Given the description of an element on the screen output the (x, y) to click on. 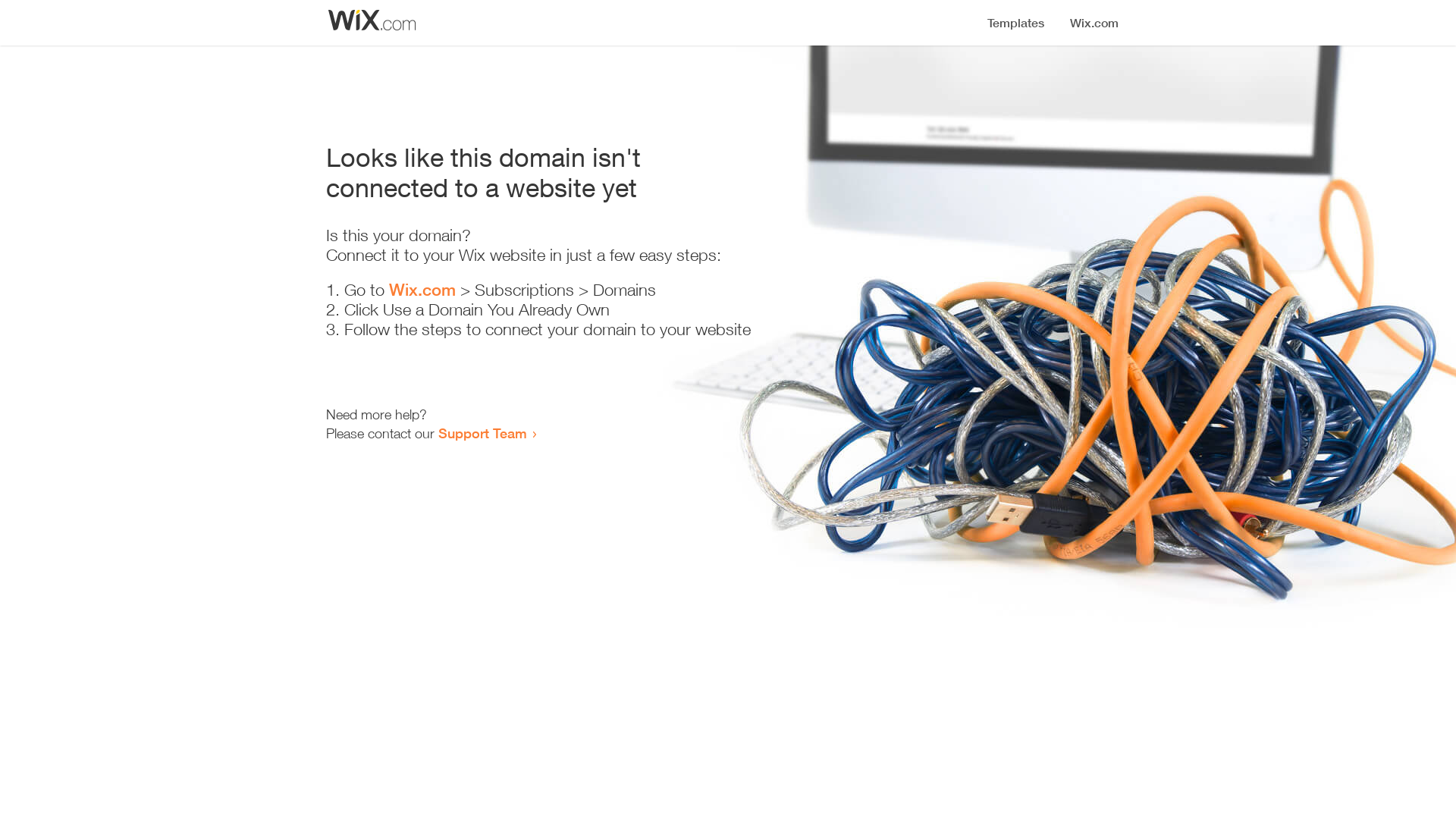
Wix.com Element type: text (422, 289)
Support Team Element type: text (482, 432)
